Given the description of an element on the screen output the (x, y) to click on. 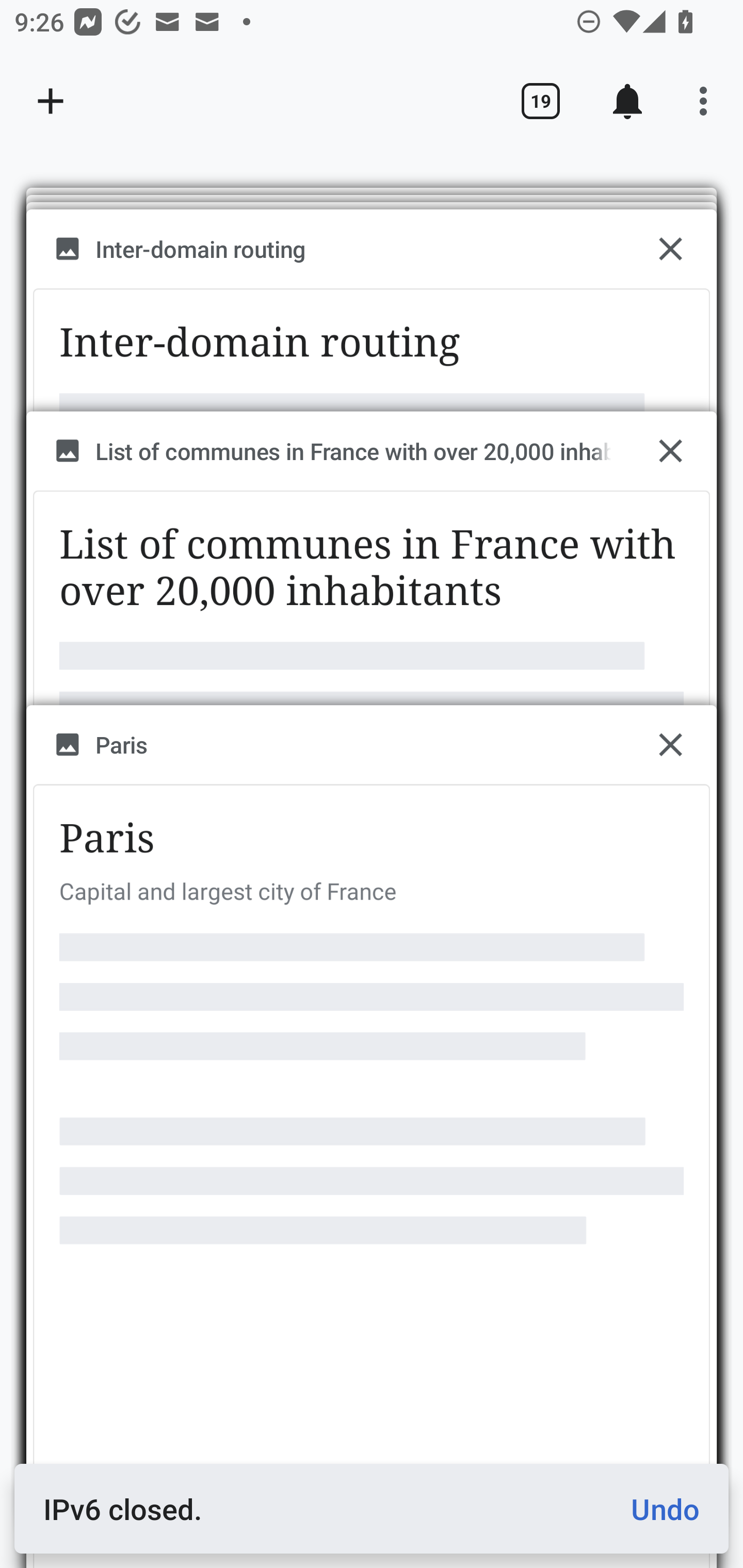
Back 19 (540, 100)
Notifications (626, 100)
New tab (50, 101)
More options (706, 101)
Undo (657, 1509)
